Given the description of an element on the screen output the (x, y) to click on. 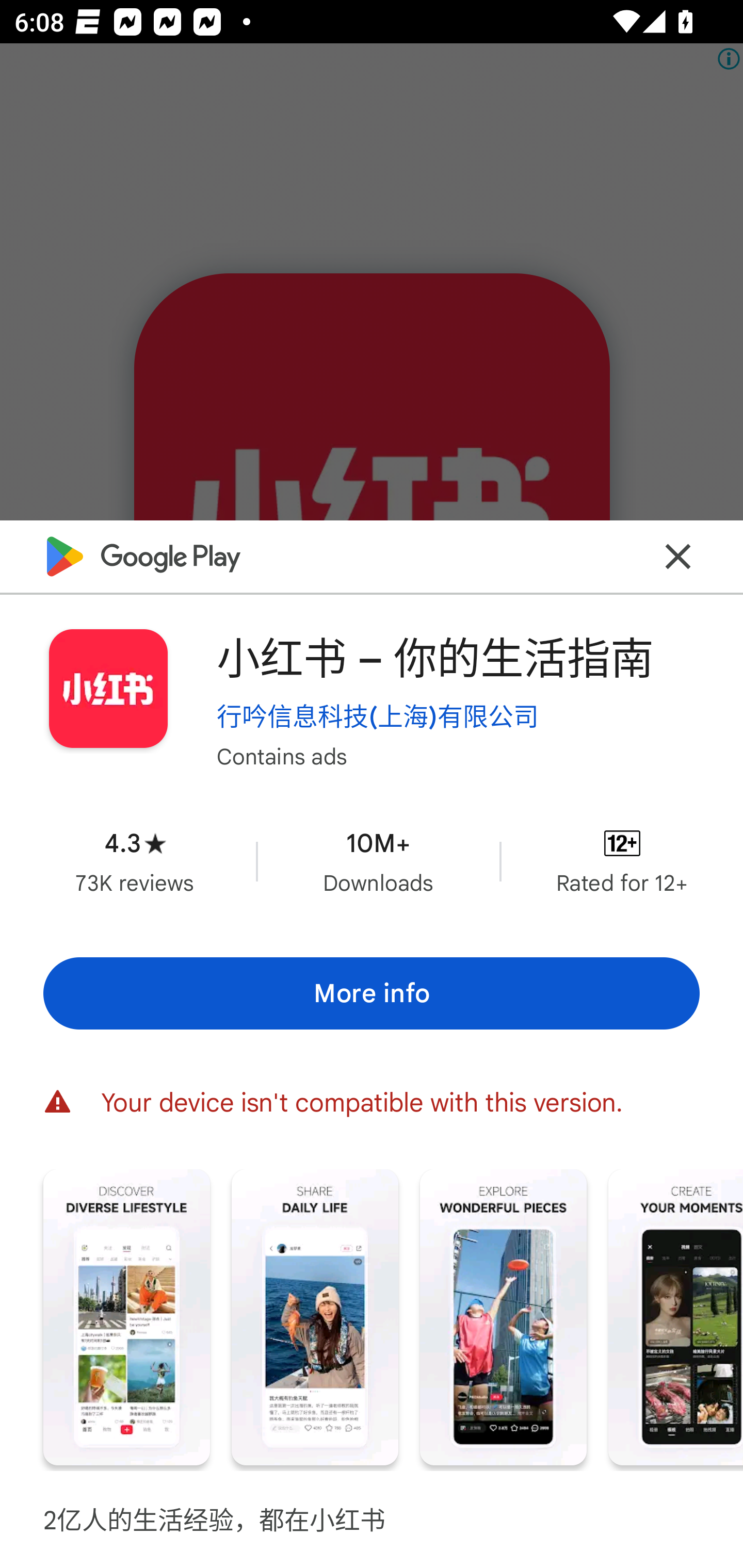
Close (677, 556)
Image of app or game icon for 小红书 – 你的生活指南 (108, 689)
行吟信息科技(上海)有限公司 (377, 716)
More info (371, 994)
Screenshot "1" of "5" (126, 1317)
Screenshot "2" of "5" (314, 1317)
Screenshot "3" of "5" (502, 1317)
Screenshot "4" of "5" (675, 1317)
